Given the description of an element on the screen output the (x, y) to click on. 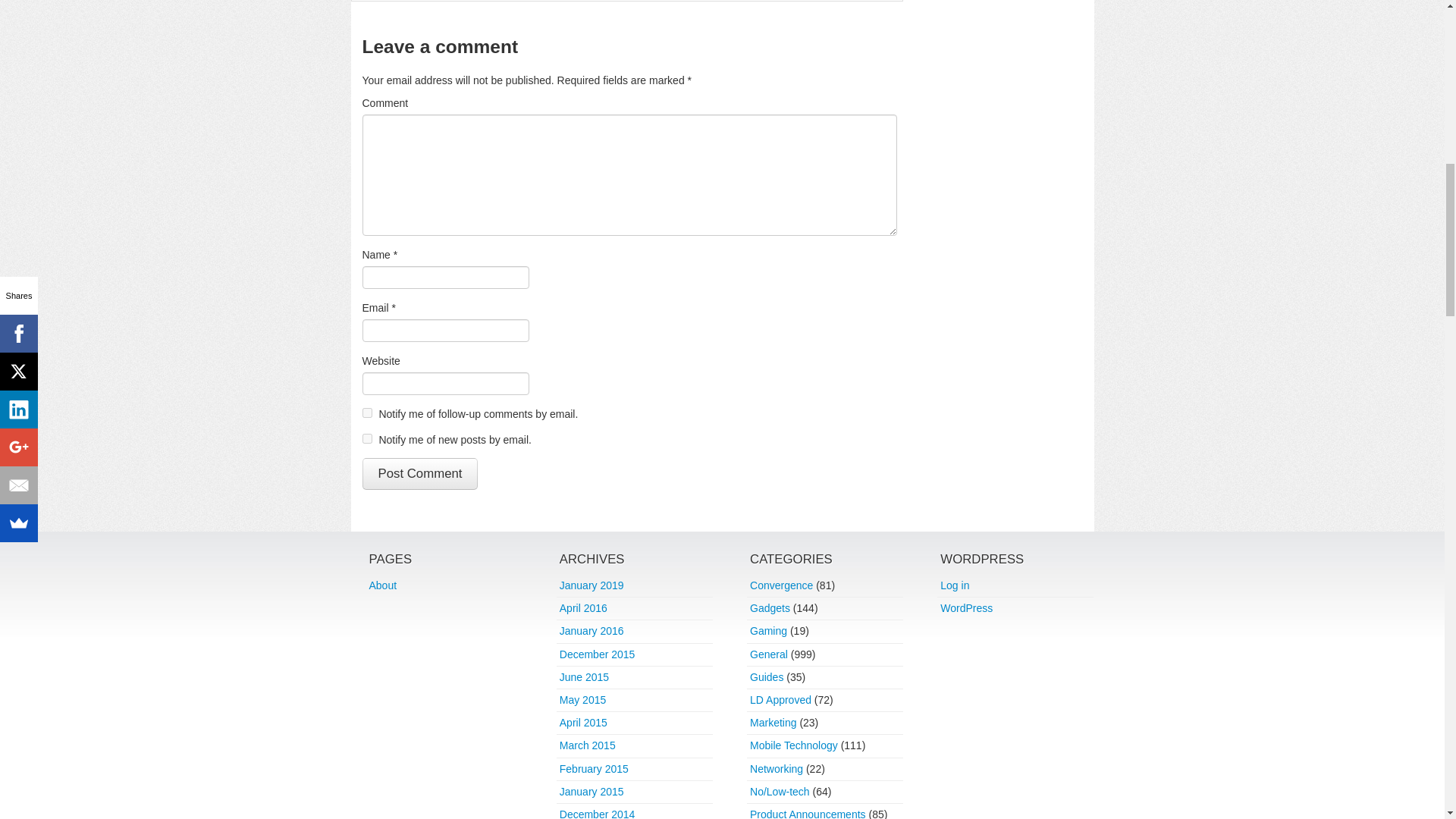
subscribe (367, 438)
June 2015 (583, 676)
January 2016 (591, 630)
December 2014 (596, 813)
January 2019 (591, 585)
March 2015 (587, 745)
February 2015 (593, 768)
May 2015 (582, 699)
April 2016 (583, 607)
About (382, 585)
subscribe (367, 412)
April 2015 (583, 722)
December 2015 (596, 654)
Post Comment (420, 473)
